Given the description of an element on the screen output the (x, y) to click on. 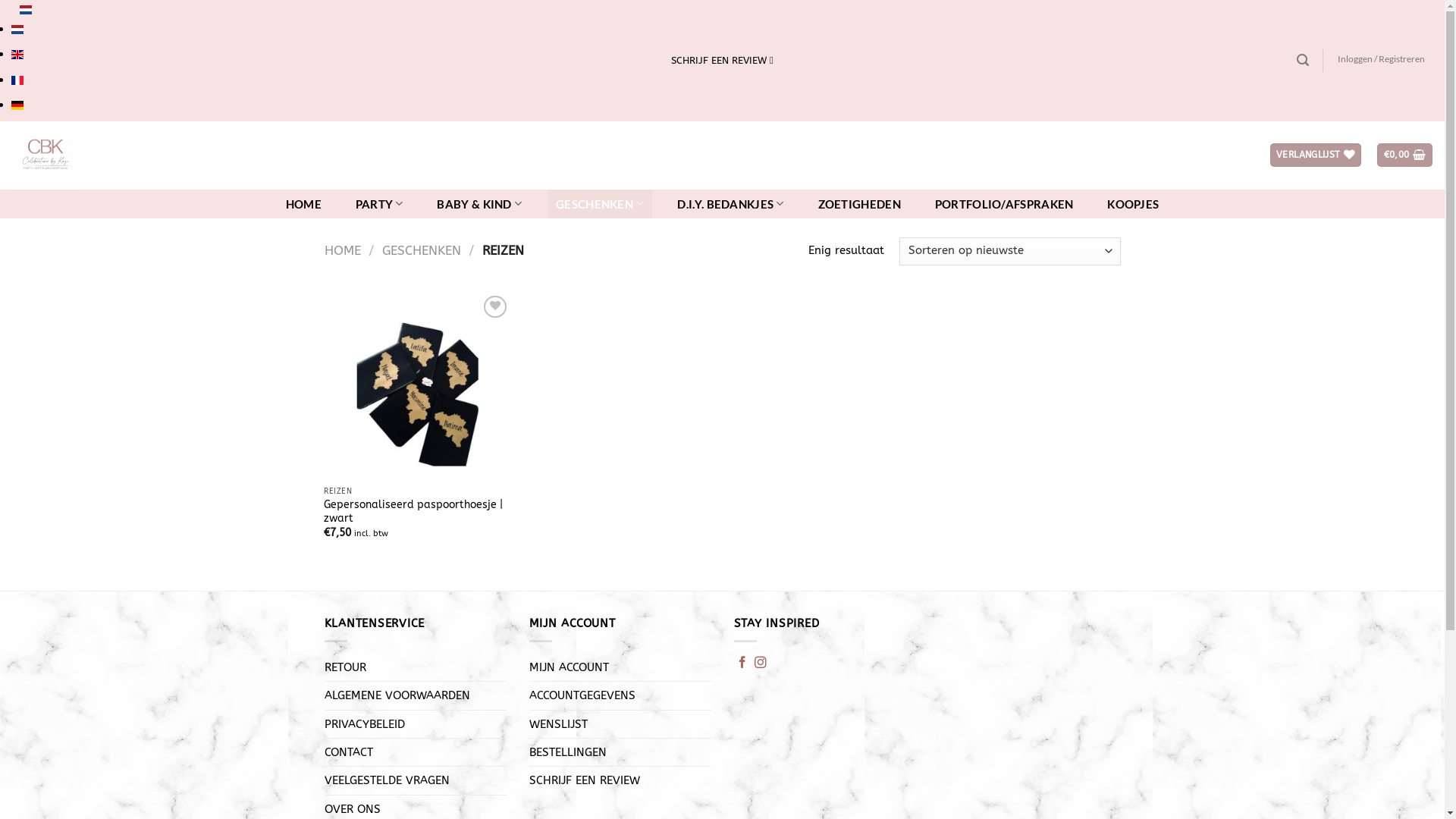
MIJN ACCOUNT Element type: text (568, 666)
PRIVACYBELEID Element type: text (364, 723)
HOME Element type: text (302, 203)
PORTFOLIO/AFSPRAKEN Element type: text (1003, 203)
Volg ons op Instagram Element type: hover (760, 662)
GESCHENKEN Element type: text (599, 203)
VEELGESTELDE VRAGEN Element type: text (386, 779)
KOOPJES Element type: text (1132, 203)
HOME Element type: text (342, 250)
ACCOUNTGEGEVENS Element type: text (582, 695)
CONTACT Element type: text (348, 751)
Inloggen / Registreren Element type: text (1381, 58)
Gepersonaliseerd paspoorthoesje | zwart Element type: text (417, 511)
ALGEMENE VOORWAARDEN Element type: text (397, 695)
SCHRIJF EEN REVIEW Element type: text (584, 779)
RETOUR Element type: text (345, 666)
PARTY Element type: text (378, 203)
GESCHENKEN Element type: text (421, 250)
WENSLIJST Element type: text (558, 723)
D.I.Y. BEDANKJES Element type: text (730, 203)
BESTELLINGEN Element type: text (567, 751)
BABY & KIND Element type: text (479, 203)
VERLANGLIJST Element type: text (1315, 154)
ZOETIGHEDEN Element type: text (859, 203)
Celebrations By Kazi - It's party time! Element type: hover (174, 155)
Like ons op Facebook Element type: hover (742, 662)
